Given the description of an element on the screen output the (x, y) to click on. 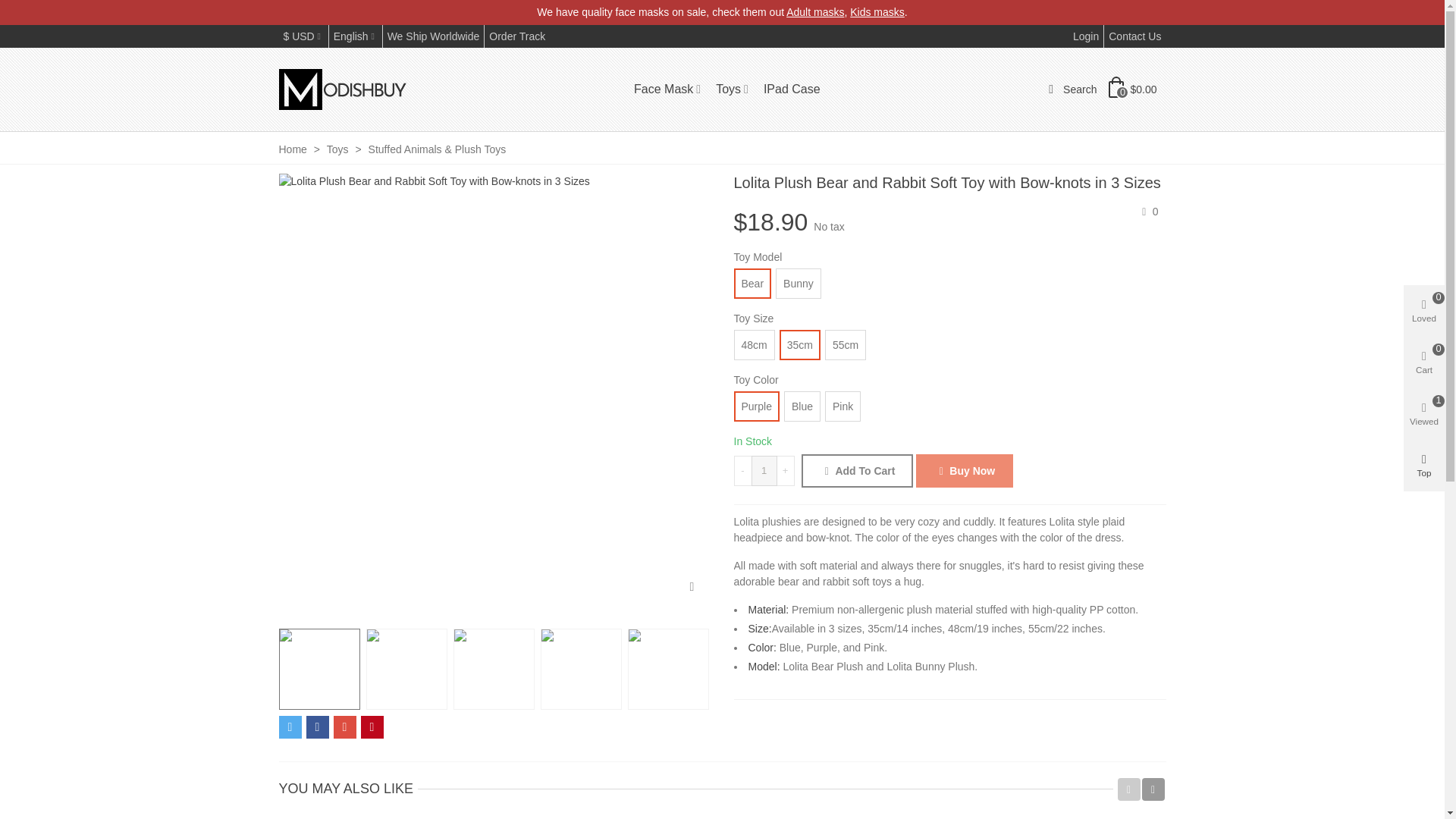
Home (294, 149)
Modishbuy (346, 88)
Adult masks (815, 11)
Order Track (516, 36)
Toys (731, 89)
Contact Us (1134, 36)
Face Mask (666, 89)
Adult masks (815, 11)
Log in to your customer account (1085, 36)
Order track (516, 36)
Kids masks (877, 11)
Contact us (1134, 36)
Kids masks (877, 11)
Face Mask (666, 89)
Login (1085, 36)
